Given the description of an element on the screen output the (x, y) to click on. 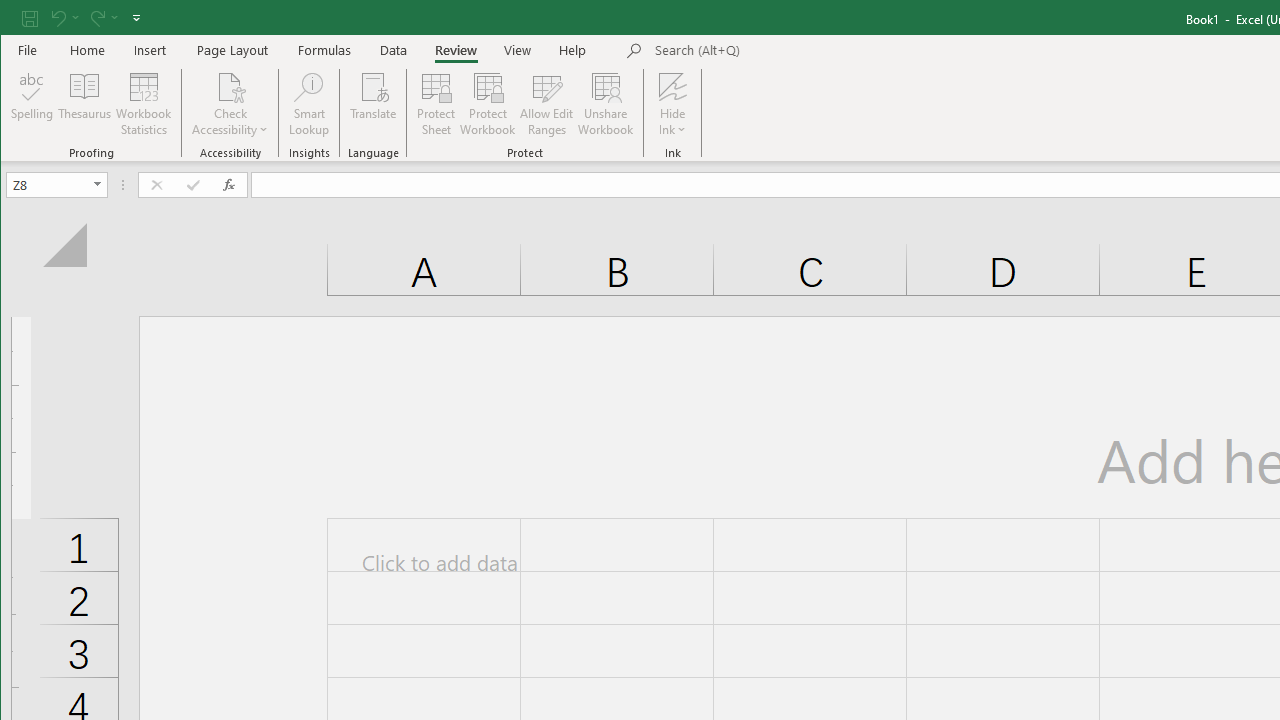
View (518, 50)
Hide Ink (672, 86)
Redo (102, 17)
Smart Lookup (308, 104)
Customize Quick Access Toolbar (136, 17)
Quick Access Toolbar (83, 17)
Insert (150, 50)
Allow Edit Ranges (547, 104)
File Tab (28, 49)
Workbook Statistics (143, 104)
Spelling... (32, 104)
More Options (672, 123)
Redo (96, 17)
Protect Workbook... (488, 104)
Help (573, 50)
